Given the description of an element on the screen output the (x, y) to click on. 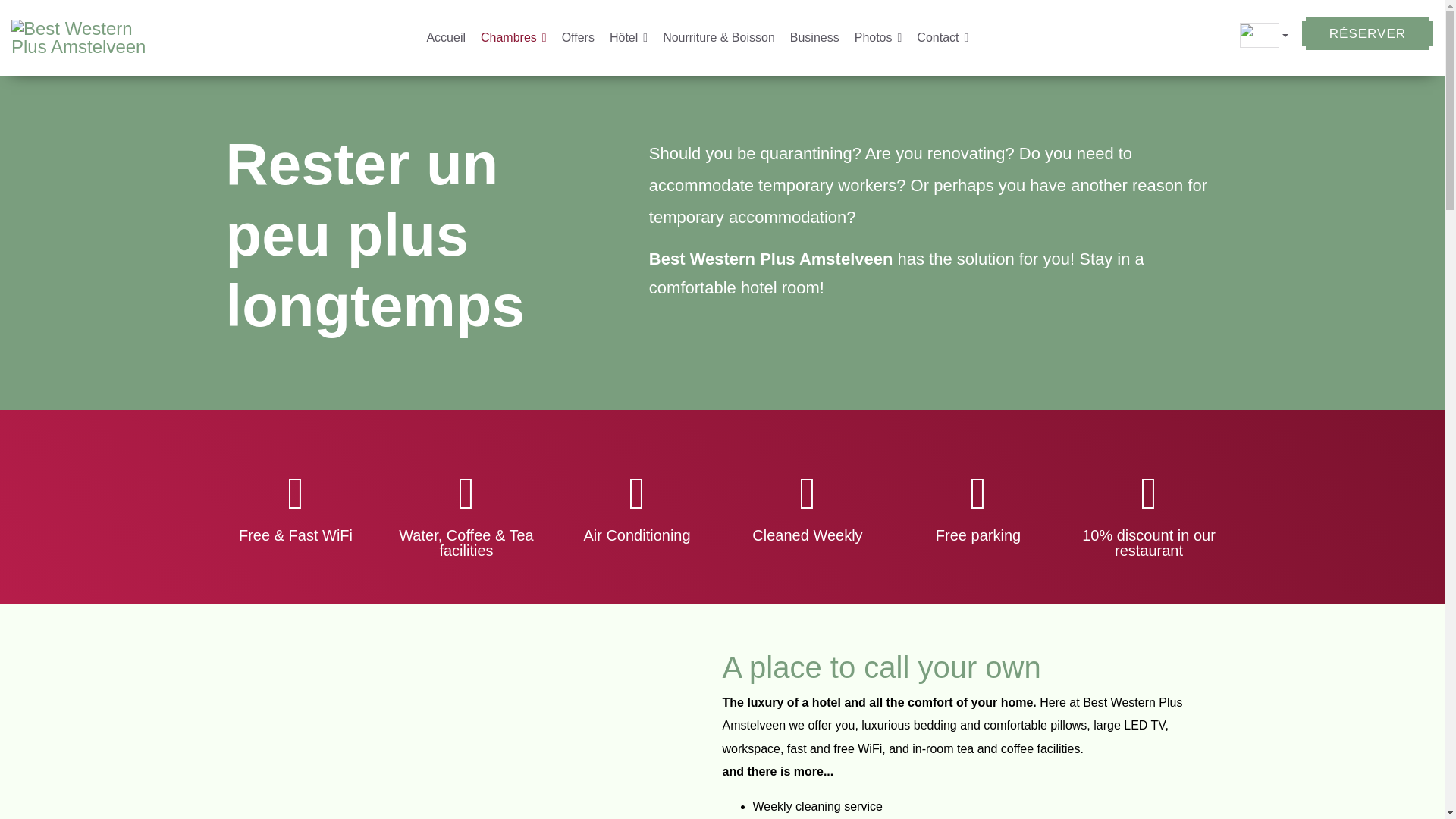
Accueil (446, 38)
Photos (878, 38)
Business (815, 38)
Offers (578, 38)
Cleaned Weekly (807, 493)
Air Conditioning (636, 493)
Free parking (978, 493)
Chambres (513, 38)
Contact (941, 38)
